Given the description of an element on the screen output the (x, y) to click on. 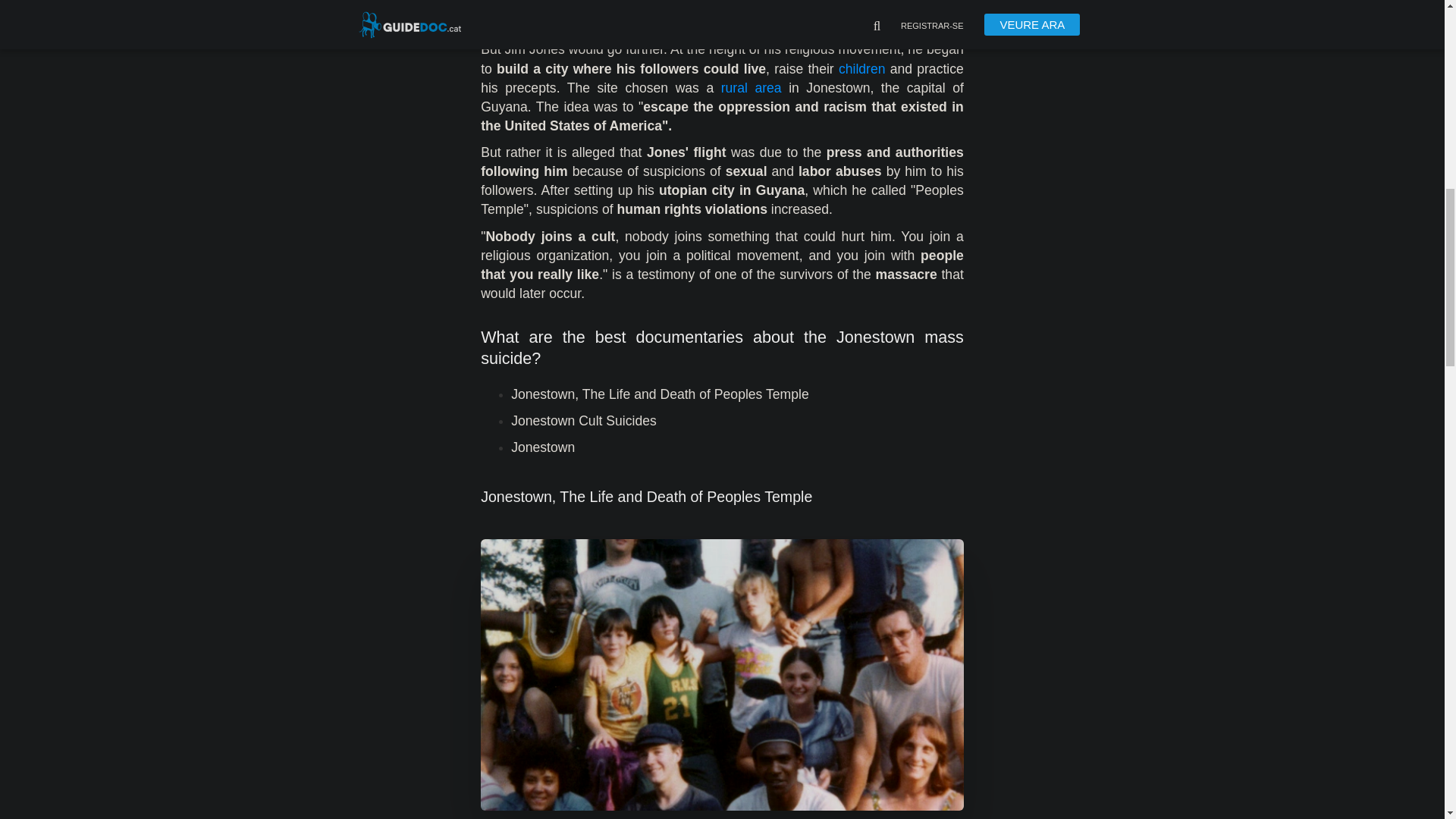
unconditional love (815, 5)
types of racism (703, 22)
religious congregation (547, 5)
children (861, 68)
rural area (754, 87)
